Given the description of an element on the screen output the (x, y) to click on. 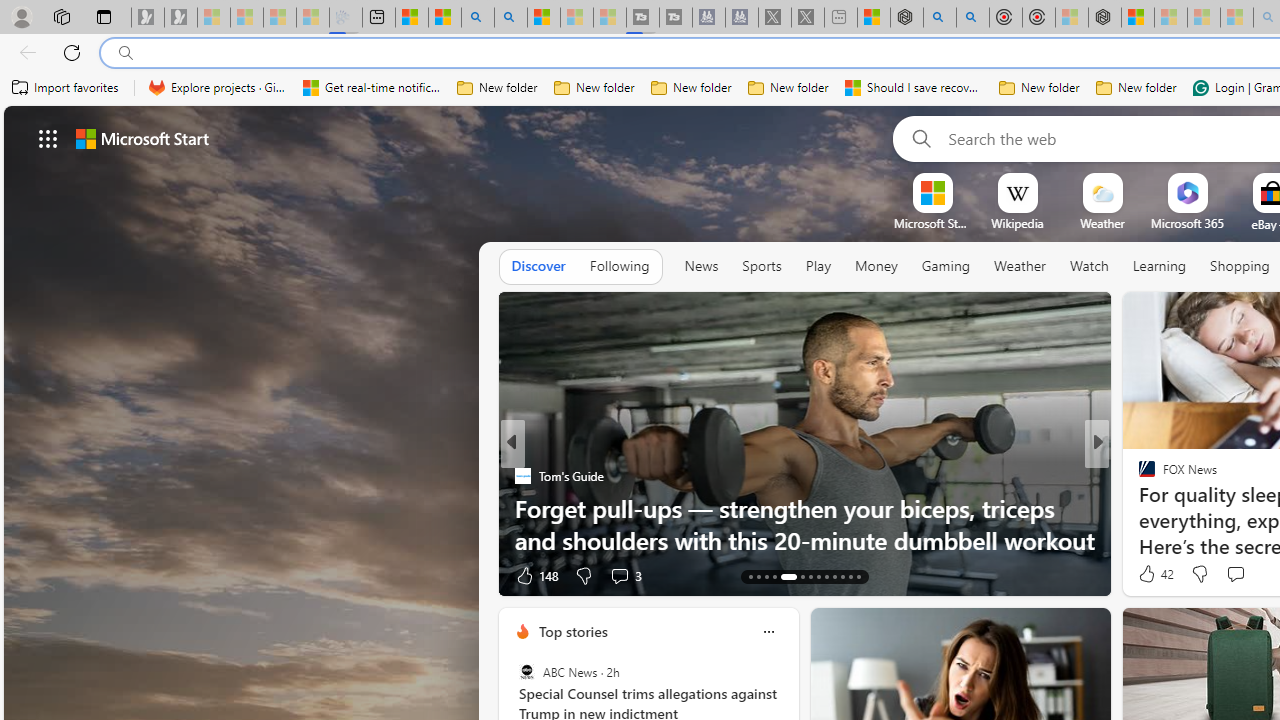
Sports (761, 267)
The Daily Beast (1138, 475)
The Independent (1138, 475)
AutomationID: tab-19 (810, 576)
Import favorites (65, 88)
BRAINY DOSE (1138, 475)
AccuWeather (1138, 475)
